Given the description of an element on the screen output the (x, y) to click on. 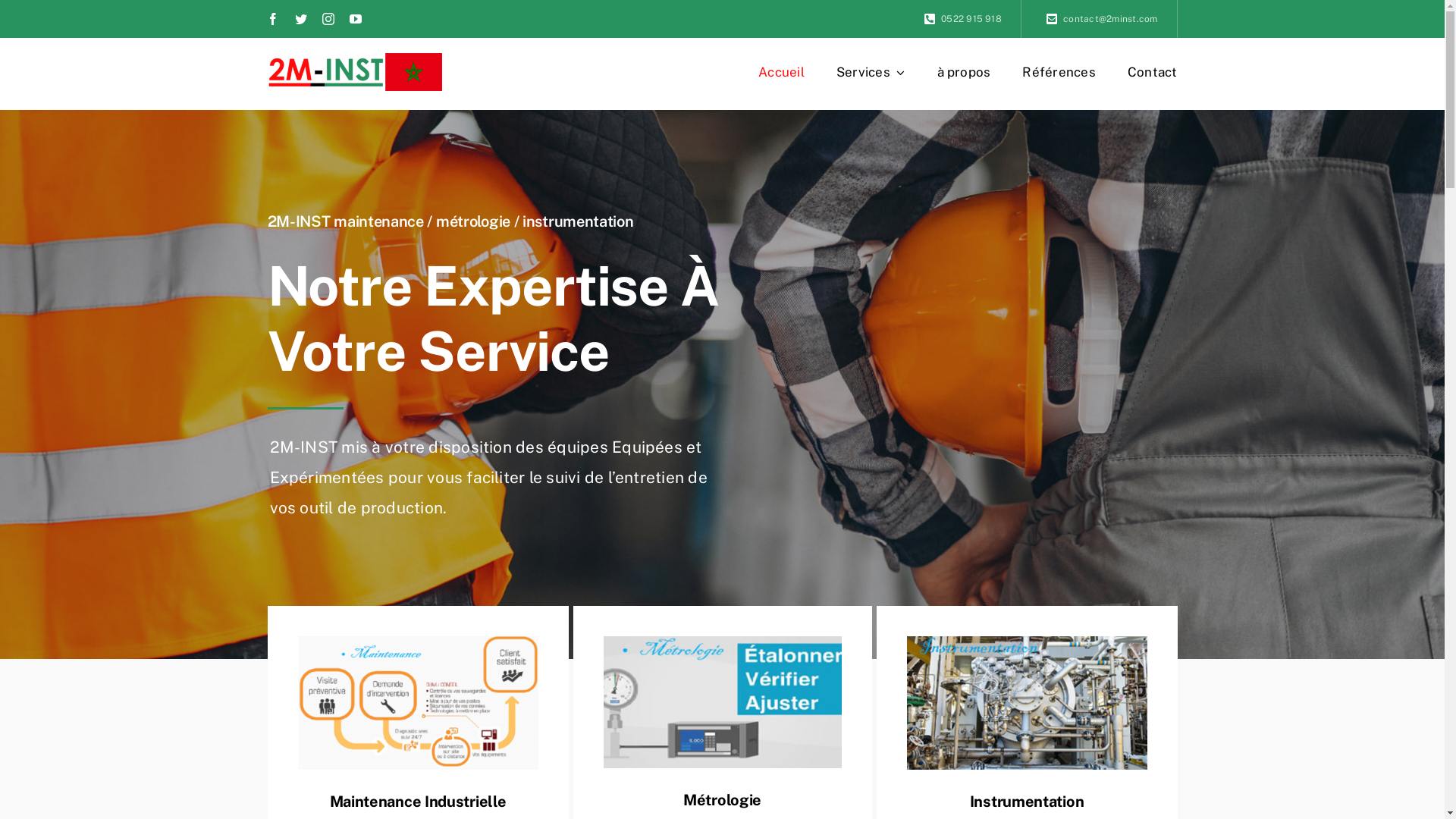
0522 915 918 Element type: text (960, 18)
instrumentation Element type: hover (1026, 702)
Twitter Element type: hover (300, 18)
contact@2minst.com Element type: text (1099, 18)
Instagram Element type: hover (328, 18)
Services Element type: text (870, 72)
Accueil Element type: text (781, 72)
metrologie Element type: hover (722, 701)
Contact Element type: text (1152, 72)
YouTube Element type: hover (355, 18)
Facebook Element type: hover (272, 18)
